Given the description of an element on the screen output the (x, y) to click on. 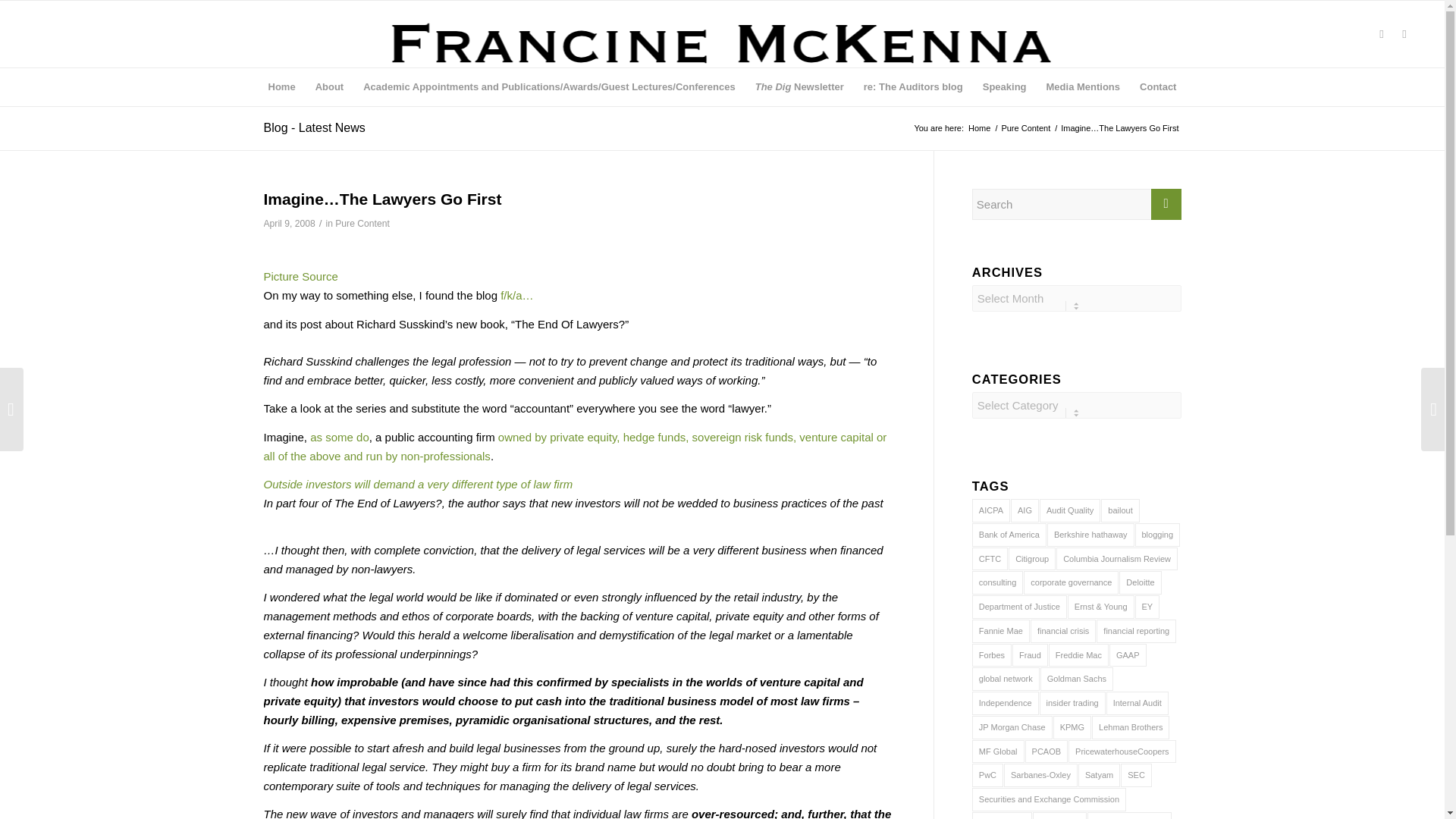
Pure Content (1025, 128)
Contact (1157, 86)
Picture Source (300, 276)
Pure Content (362, 223)
francine-mckenna (722, 43)
Permanent Link: Blog - Latest News (314, 127)
Rss (1404, 33)
Twitter (1381, 33)
Home (282, 86)
Francine McKenna (979, 128)
Blog - Latest News (314, 127)
re: The Auditors blog (912, 86)
francine-mckenna (722, 45)
About (329, 86)
